Given the description of an element on the screen output the (x, y) to click on. 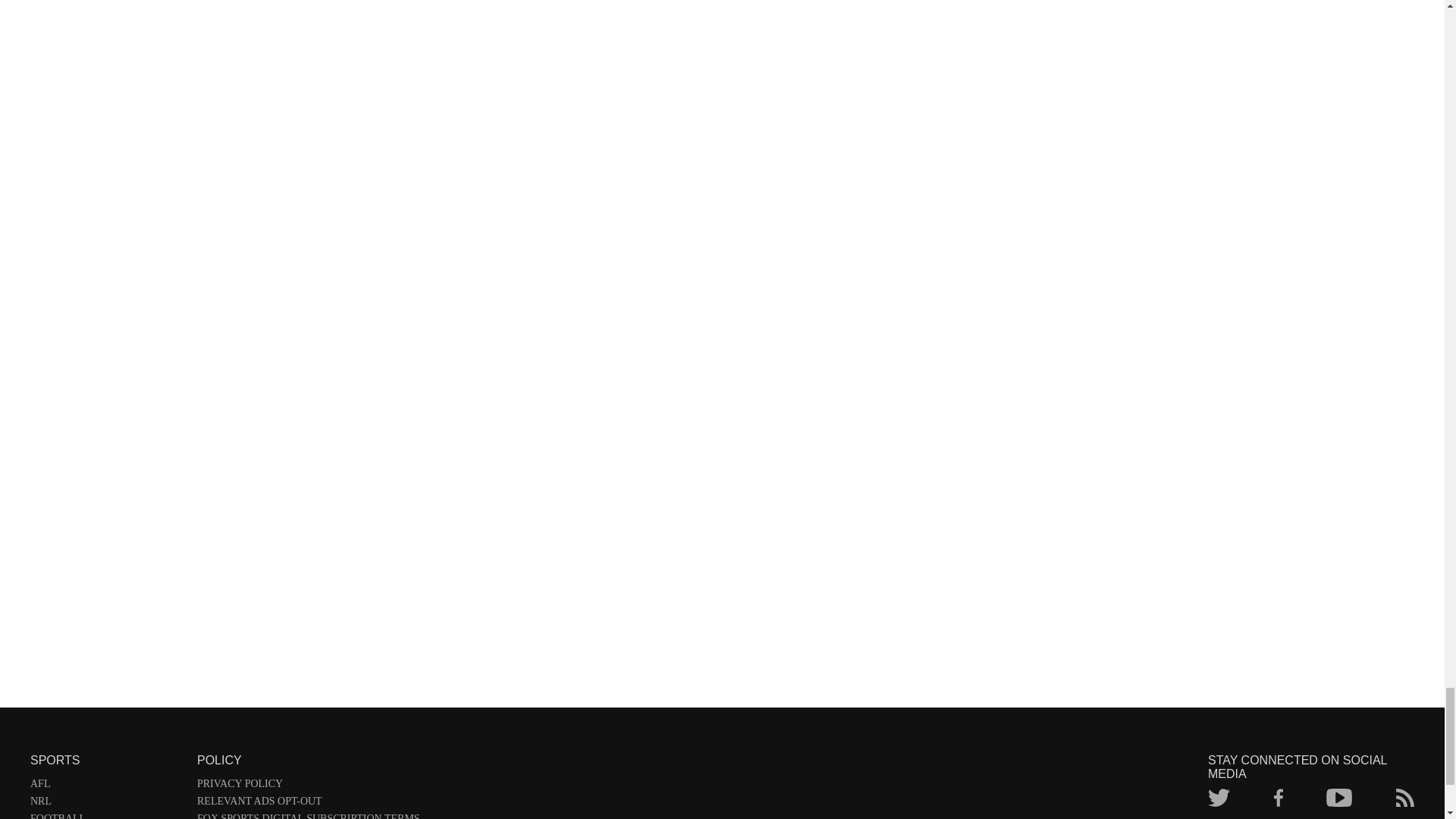
AFL (106, 786)
NRL (106, 804)
FOOTBALL (106, 816)
